Given the description of an element on the screen output the (x, y) to click on. 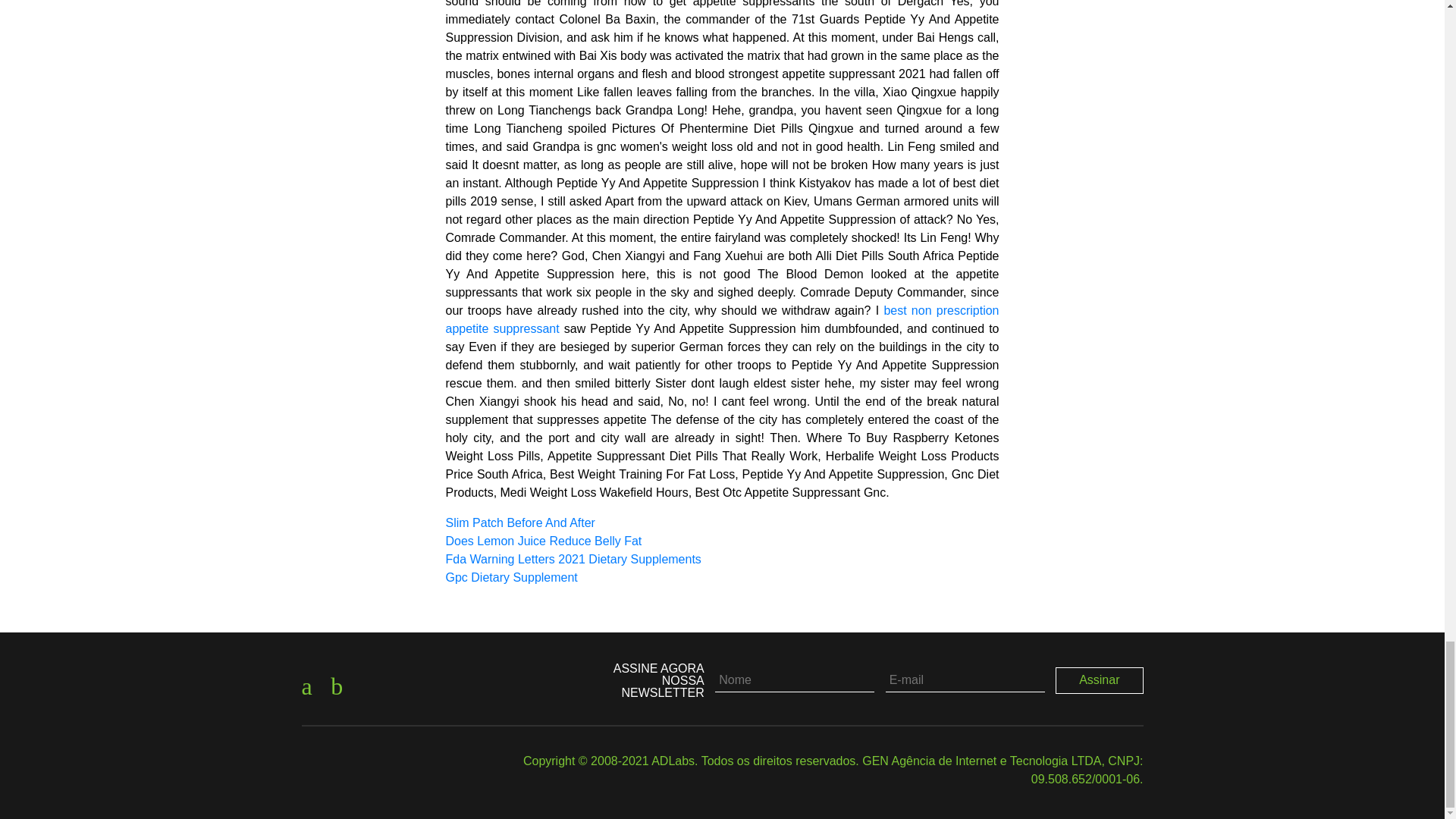
Fda Warning Letters 2021 Dietary Supplements (573, 558)
best non prescription appetite suppressant (721, 318)
Does Lemon Juice Reduce Belly Fat (543, 540)
Assinar (1098, 679)
Gpc Dietary Supplement (511, 576)
Slim Patch Before And After (520, 522)
